Given the description of an element on the screen output the (x, y) to click on. 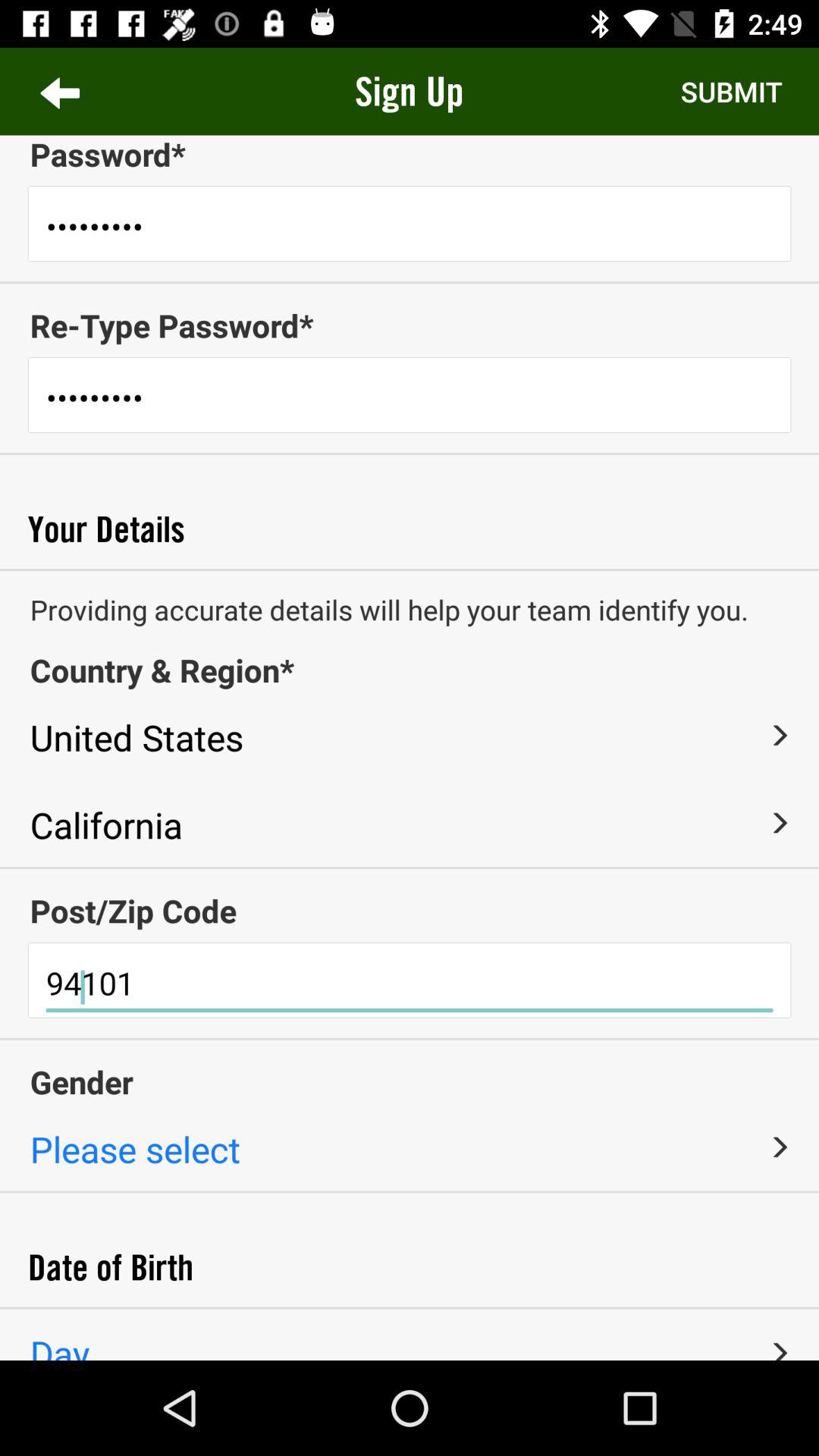
launch country & region* item (409, 669)
